Given the description of an element on the screen output the (x, y) to click on. 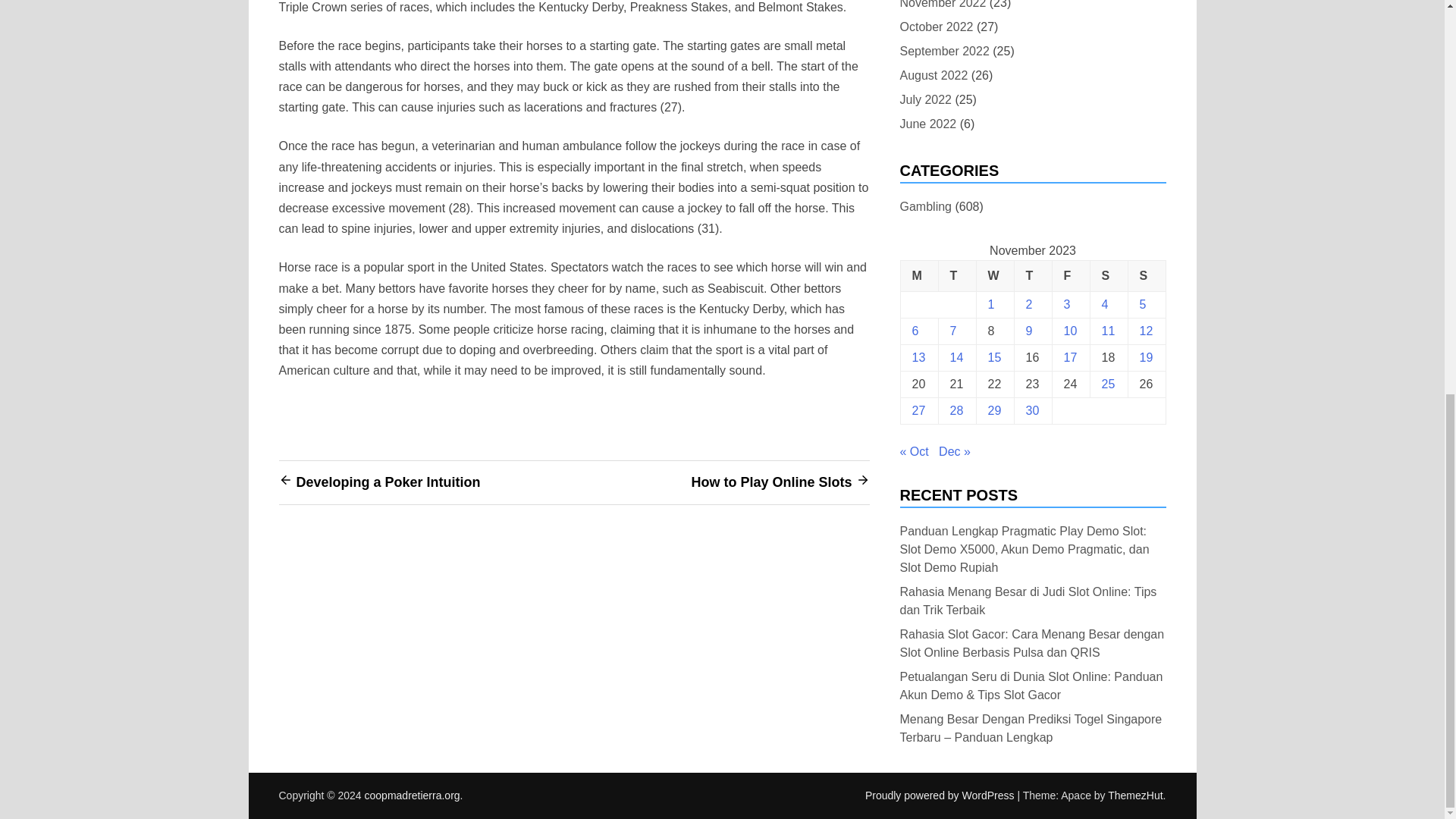
October 2022 (935, 26)
coopmadretierra.org (412, 795)
June 2022 (927, 123)
August 2022 (933, 75)
How to Play Online Slots (770, 482)
September 2022 (943, 50)
Thursday (1032, 276)
Wednesday (994, 276)
Saturday (1107, 276)
Developing a Poker Intuition (387, 482)
July 2022 (925, 99)
Tuesday (956, 276)
November 2022 (942, 6)
Sunday (1146, 276)
Monday (918, 276)
